Given the description of an element on the screen output the (x, y) to click on. 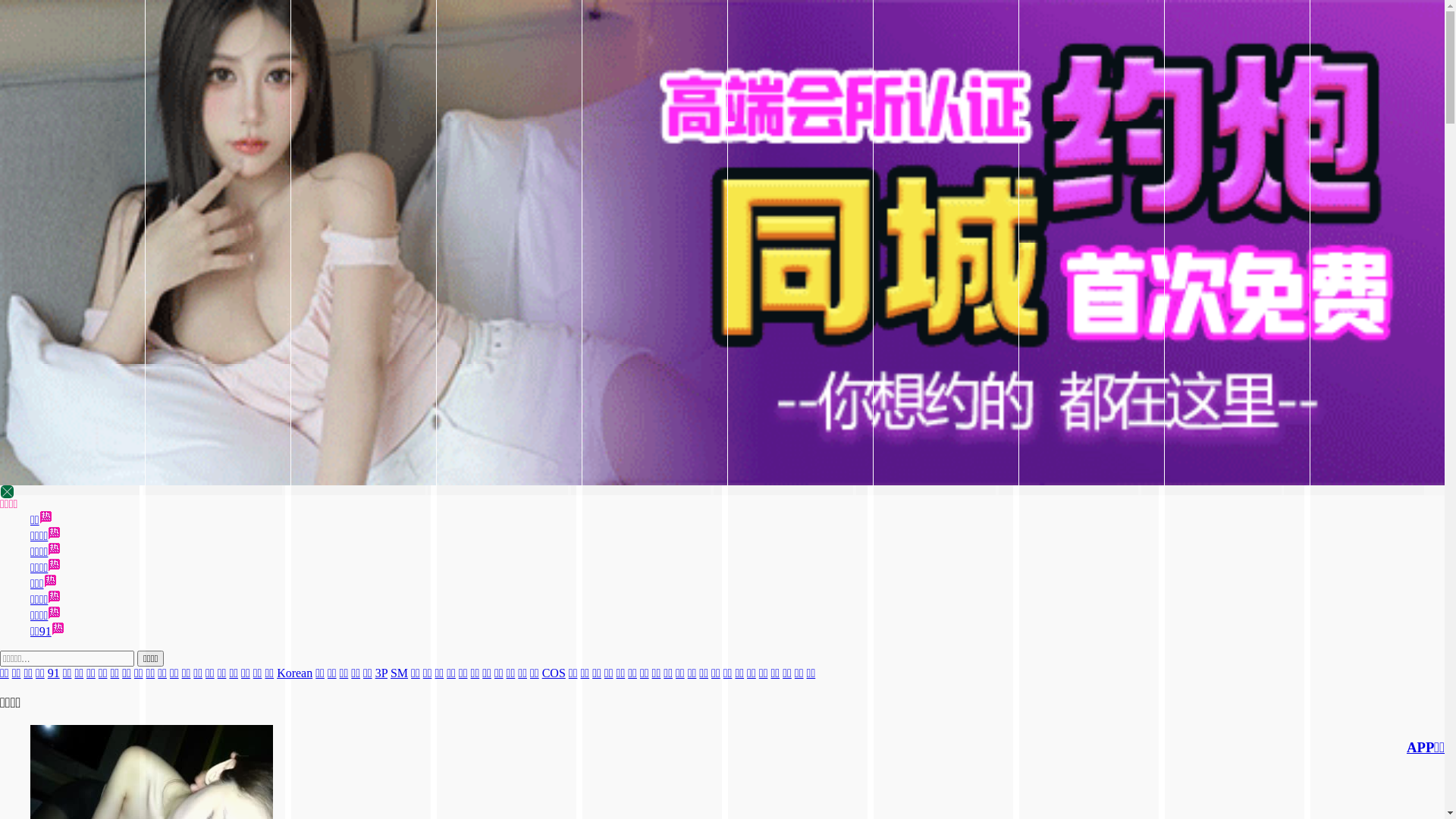
SM Element type: text (398, 672)
3P Element type: text (381, 672)
91 Element type: text (53, 672)
COS Element type: text (553, 672)
Korean Element type: text (294, 672)
